Given the description of an element on the screen output the (x, y) to click on. 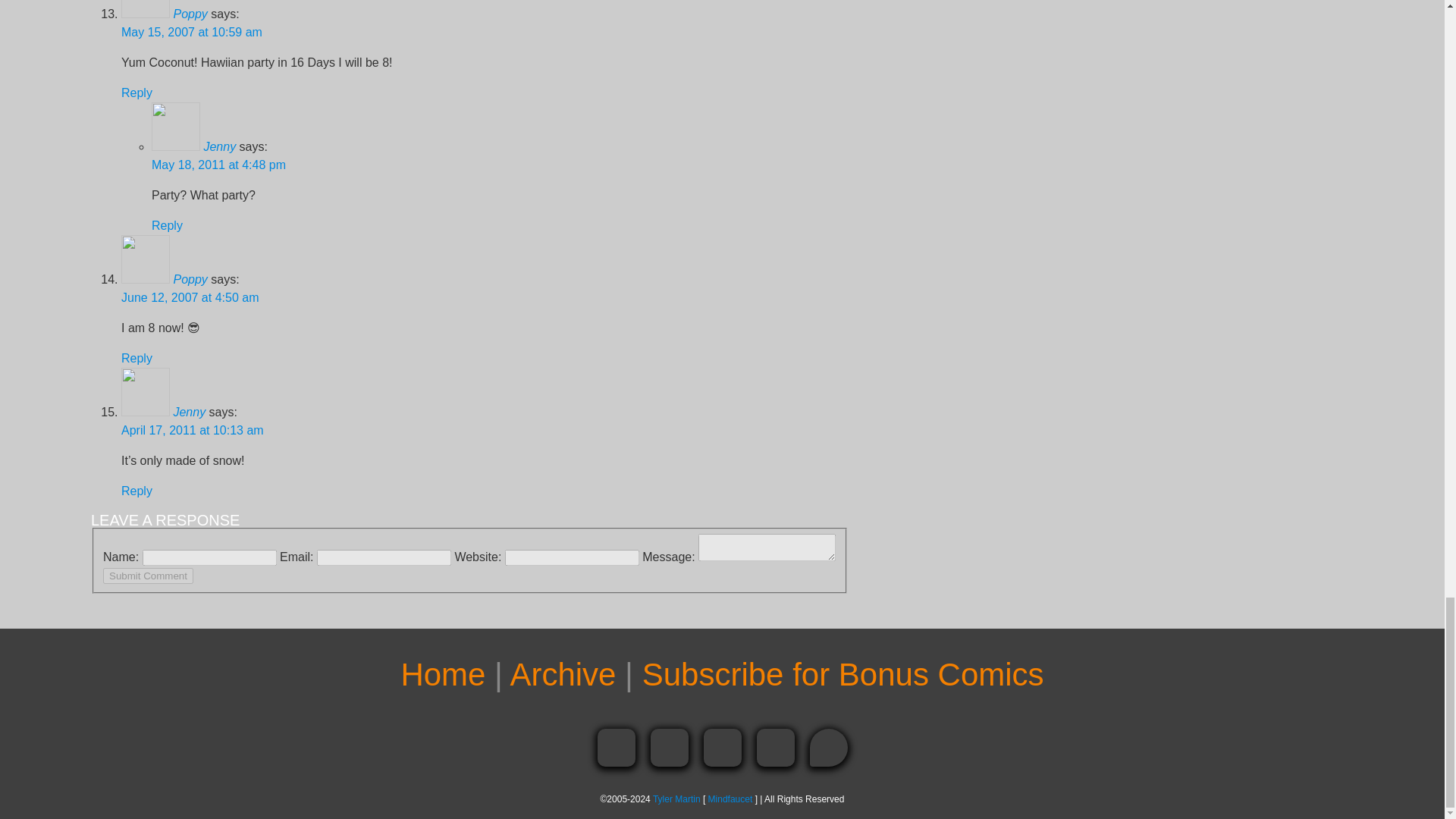
Follow on Twitter (669, 747)
Poppy (189, 13)
Subscribe to the RSS Feed (775, 747)
Submit Comment (148, 575)
Like on Facebook (615, 747)
Support the Comic (828, 747)
Follow on Instagram (722, 747)
May 15, 2007 at 10:59 am (191, 31)
